Given the description of an element on the screen output the (x, y) to click on. 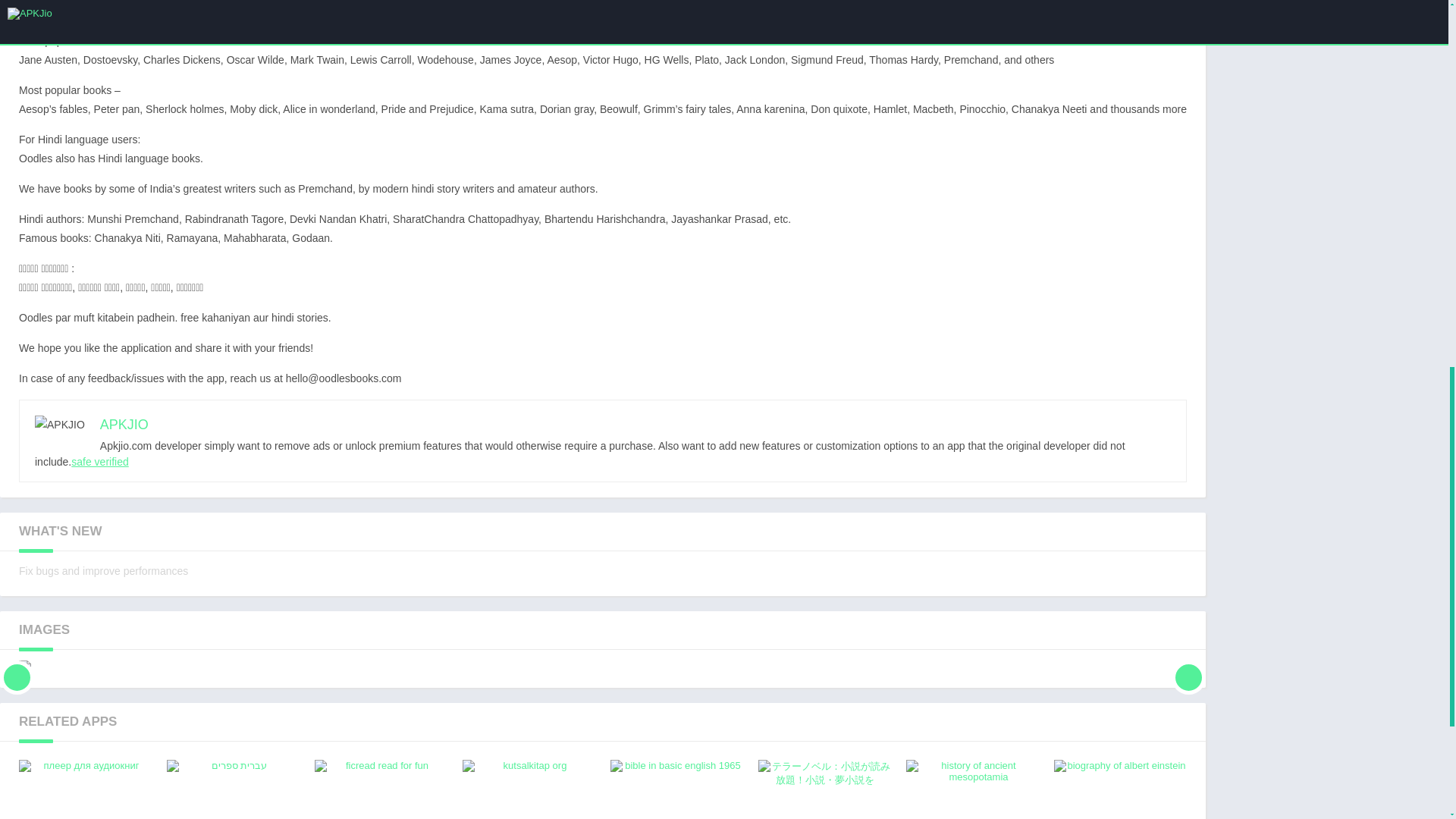
FicRead-Read For Fun (380, 789)
Next (1188, 666)
safe verified (1120, 789)
safe verified (99, 461)
Previous (99, 461)
FicRead-Read For Fun 5 (16, 666)
APKJIO (380, 789)
